Given the description of an element on the screen output the (x, y) to click on. 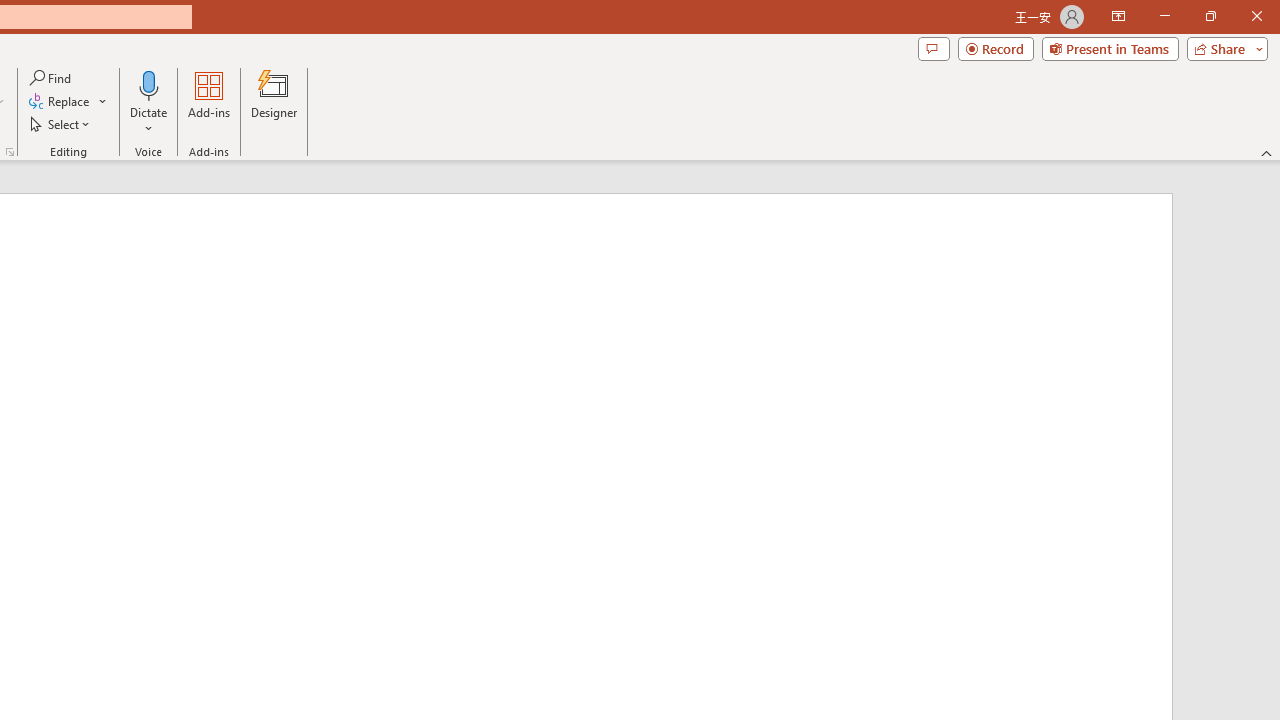
Find... (51, 78)
Format Object... (9, 151)
Replace... (68, 101)
Dictate (149, 102)
Select (61, 124)
Dictate (149, 84)
Designer (274, 102)
